Given the description of an element on the screen output the (x, y) to click on. 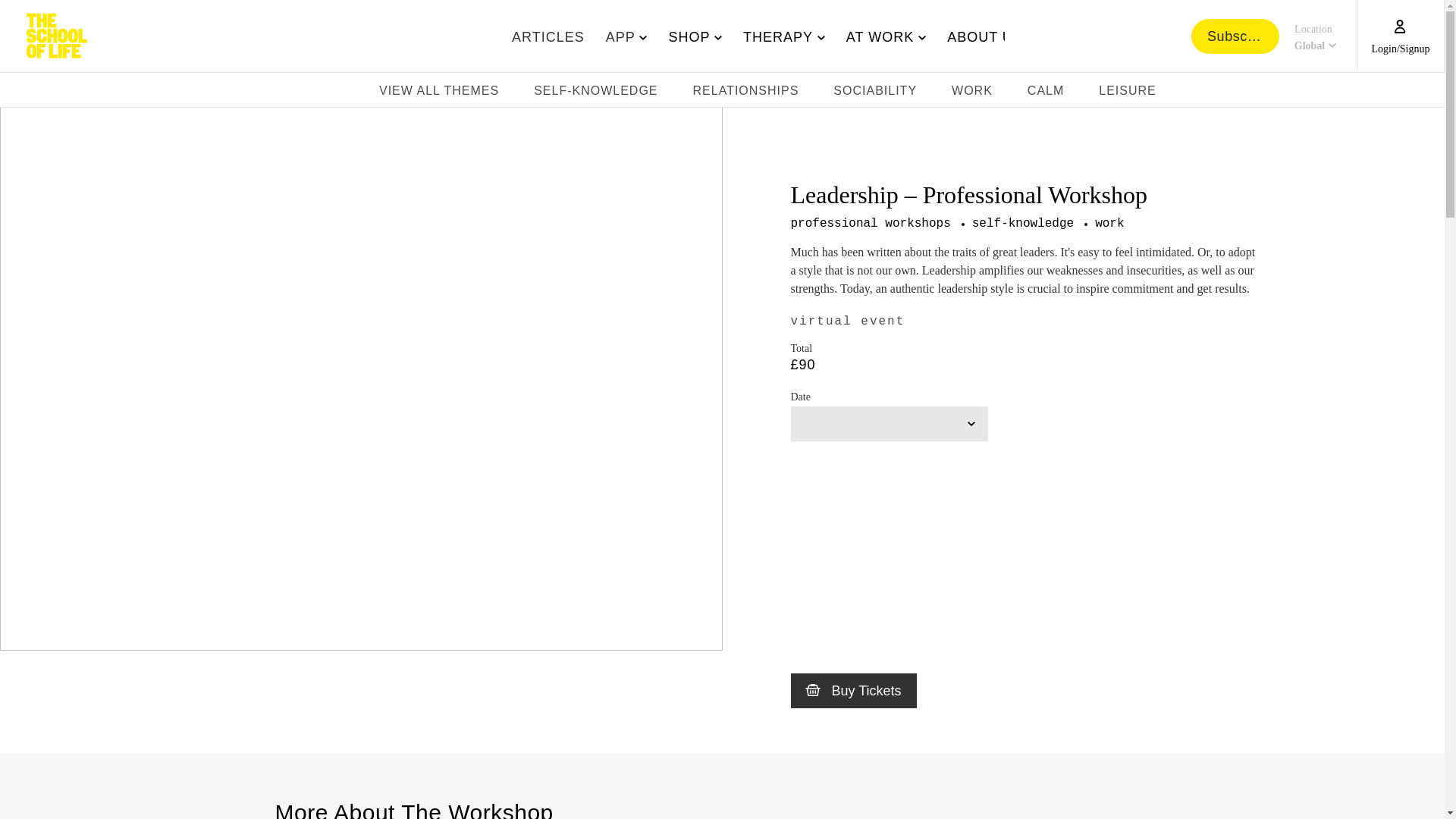
Facebook (1411, 92)
APP (622, 37)
ARTICLES (773, 36)
TikTok (548, 37)
Linkedin (1345, 92)
Instagram (1433, 92)
Subscribe (1312, 36)
X (1323, 92)
Youtube (1235, 35)
Subscribe (1388, 92)
